Given the description of an element on the screen output the (x, y) to click on. 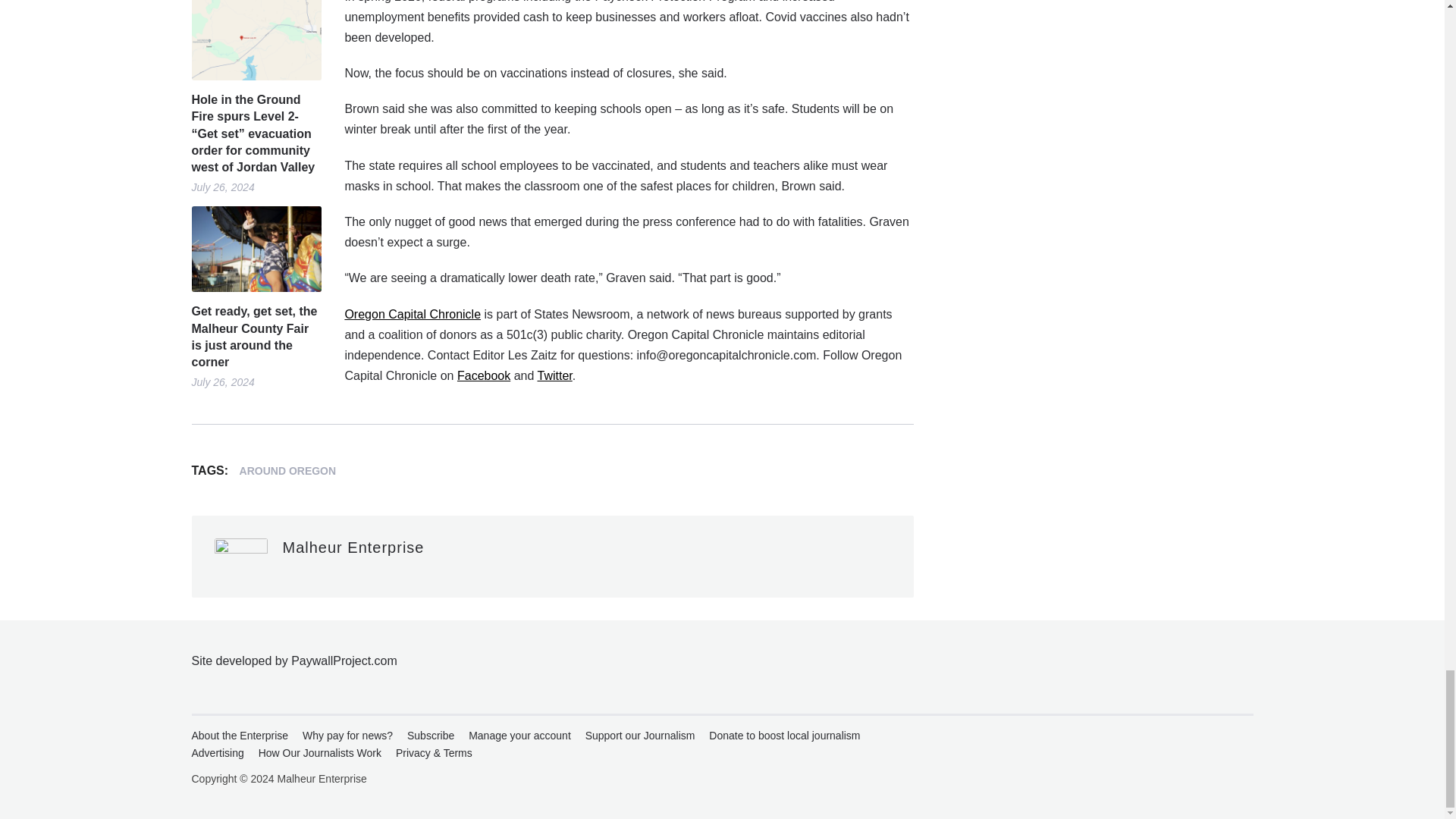
Posts by Malheur Enterprise (352, 547)
